Given the description of an element on the screen output the (x, y) to click on. 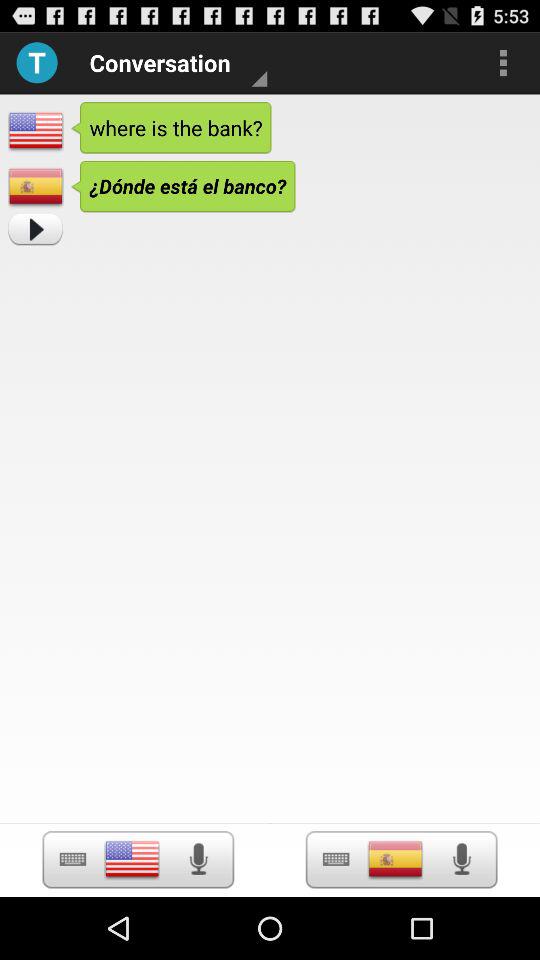
country blog (395, 859)
